Given the description of an element on the screen output the (x, y) to click on. 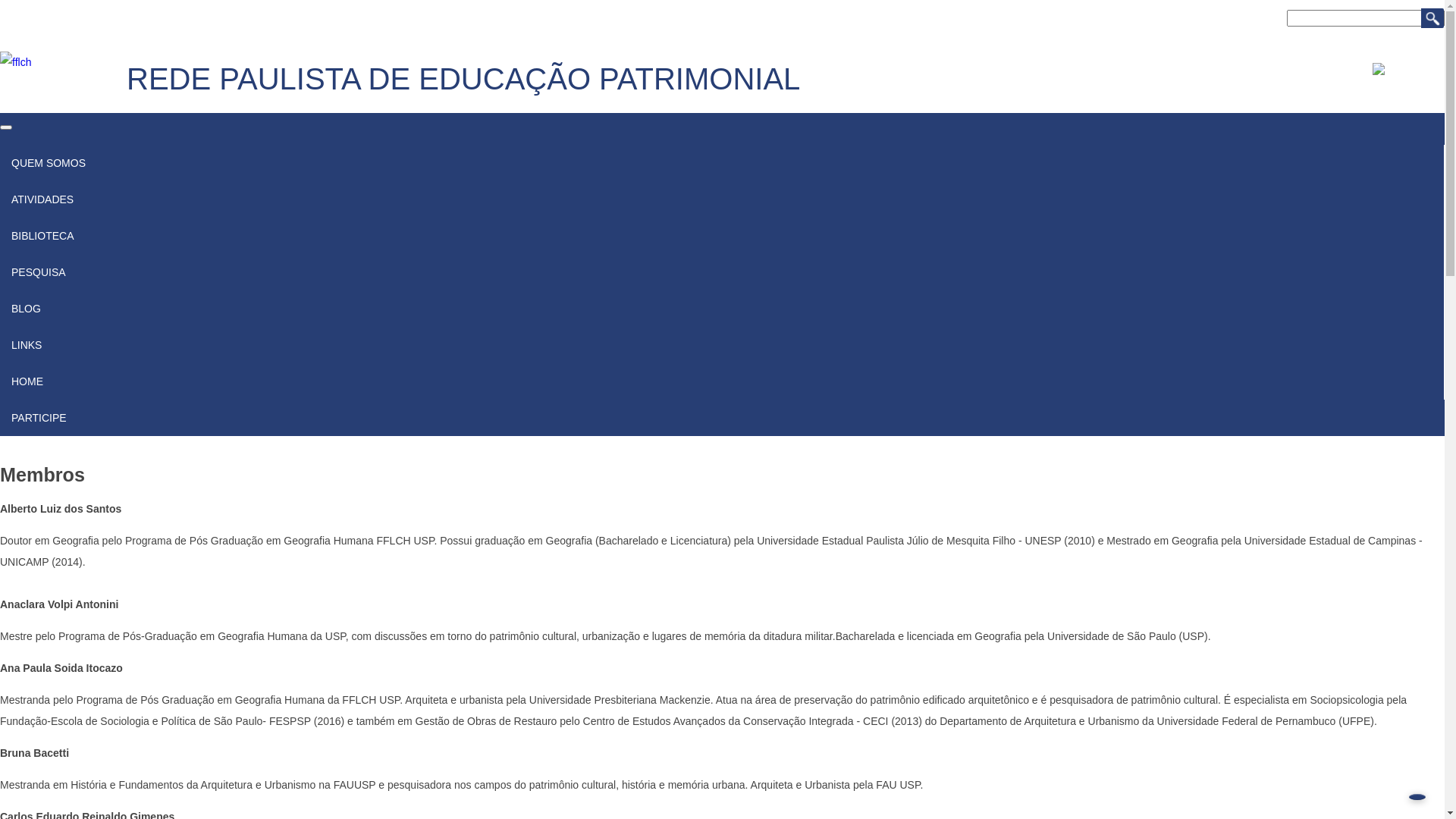
BIBLIOTECA Element type: text (42, 235)
LINKS Element type: text (721, 344)
ATIVIDADES Element type: text (42, 199)
  Element type: text (129, 57)
PARTICIPE Element type: text (722, 417)
BLOG Element type: text (721, 308)
PESQUISA Element type: text (721, 272)
QUEM SOMOS Element type: text (48, 162)
HOME Element type: text (721, 381)
Buscar Element type: text (1432, 18)
Back to Top Element type: hover (1416, 796)
